Given the description of an element on the screen output the (x, y) to click on. 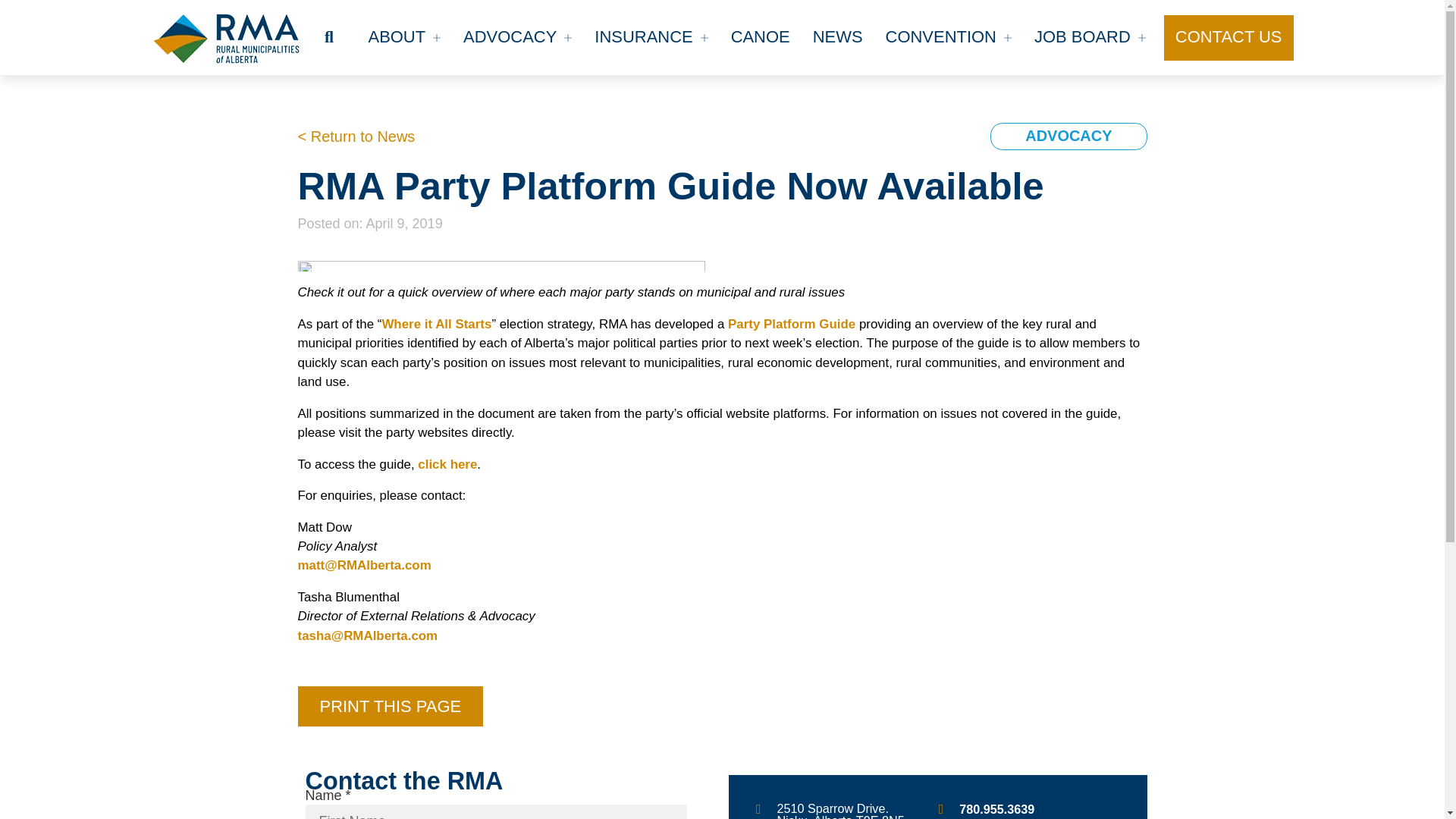
ADVOCACY (517, 37)
INSURANCE (651, 37)
ABOUT (403, 37)
